Given the description of an element on the screen output the (x, y) to click on. 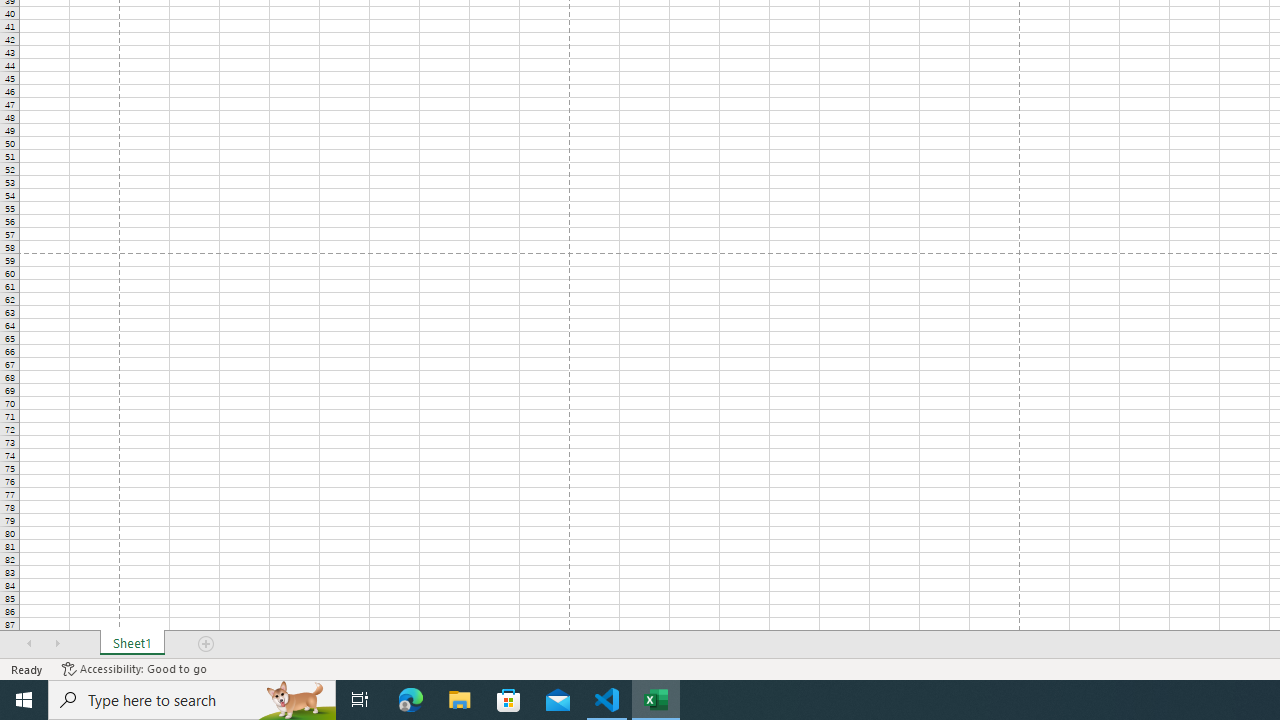
Scroll Left (29, 644)
Accessibility Checker Accessibility: Good to go (134, 668)
Scroll Right (57, 644)
Add Sheet (207, 644)
Sheet1 (132, 644)
